Given the description of an element on the screen output the (x, y) to click on. 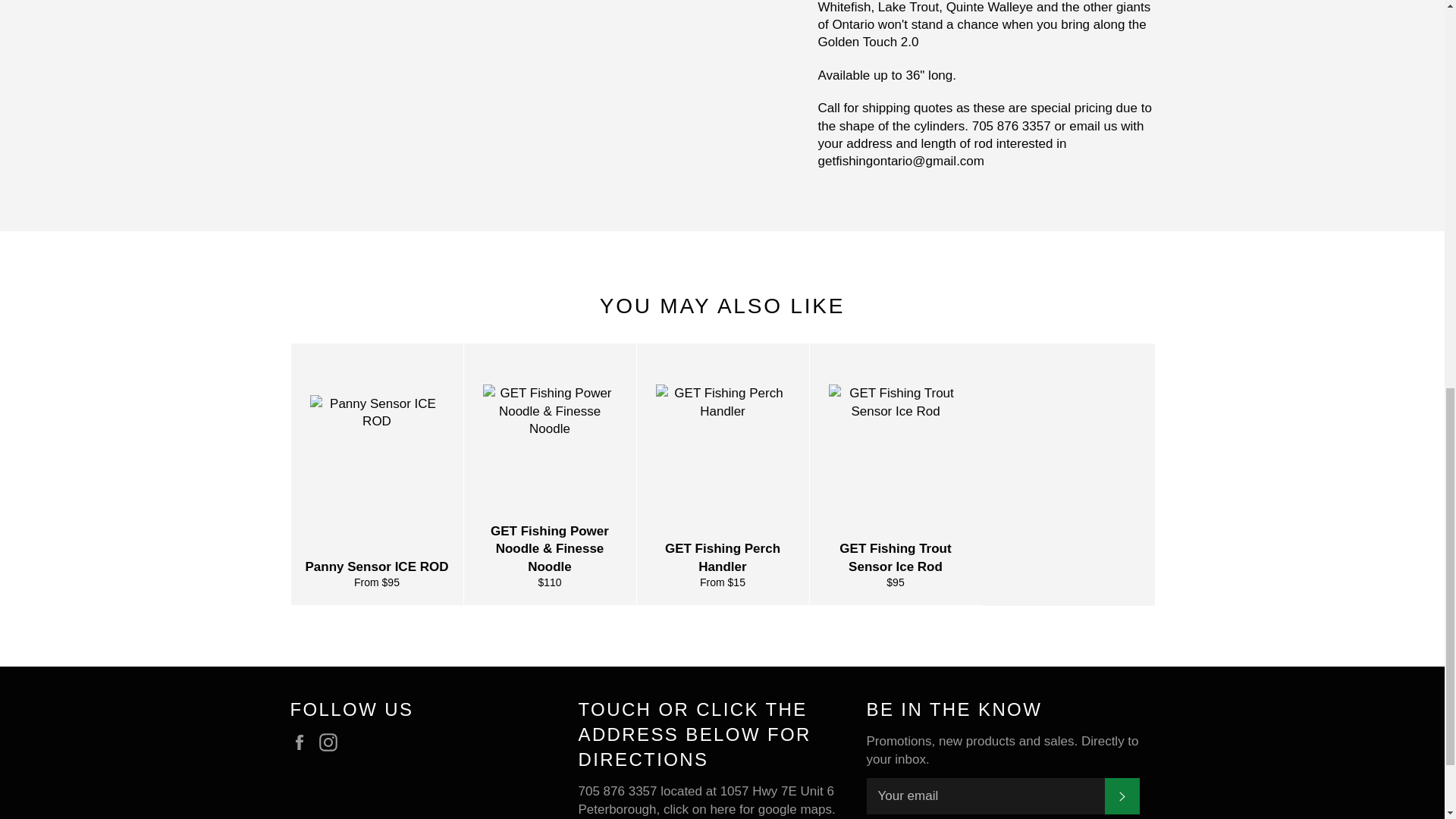
Get Fishing Ontario on Instagram (331, 741)
Get Fishing Ontario on Facebook (302, 741)
